Given the description of an element on the screen output the (x, y) to click on. 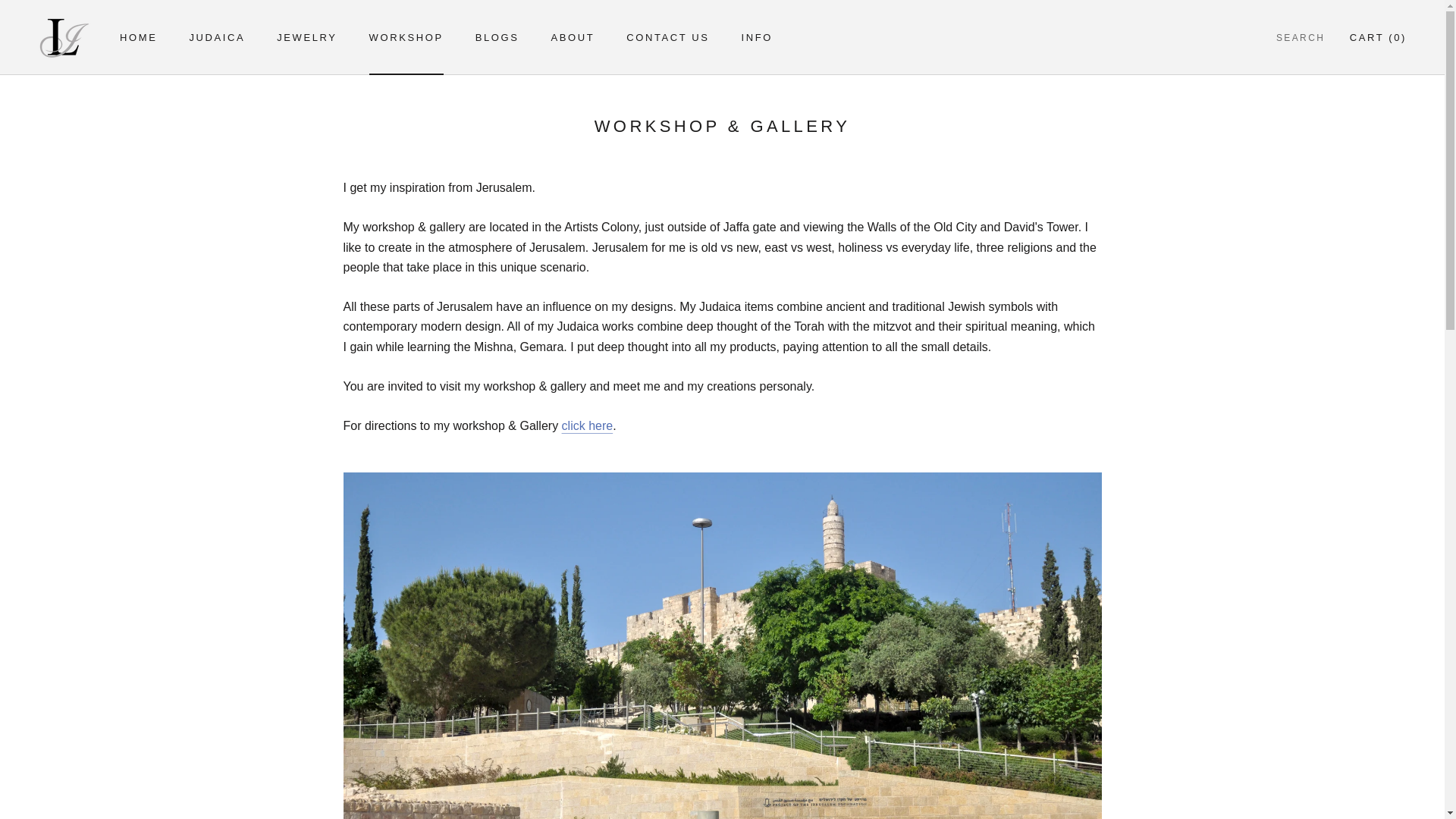
ITZHAK LUVATON ARTIST COLONY JERUSALEM (587, 425)
